Given the description of an element on the screen output the (x, y) to click on. 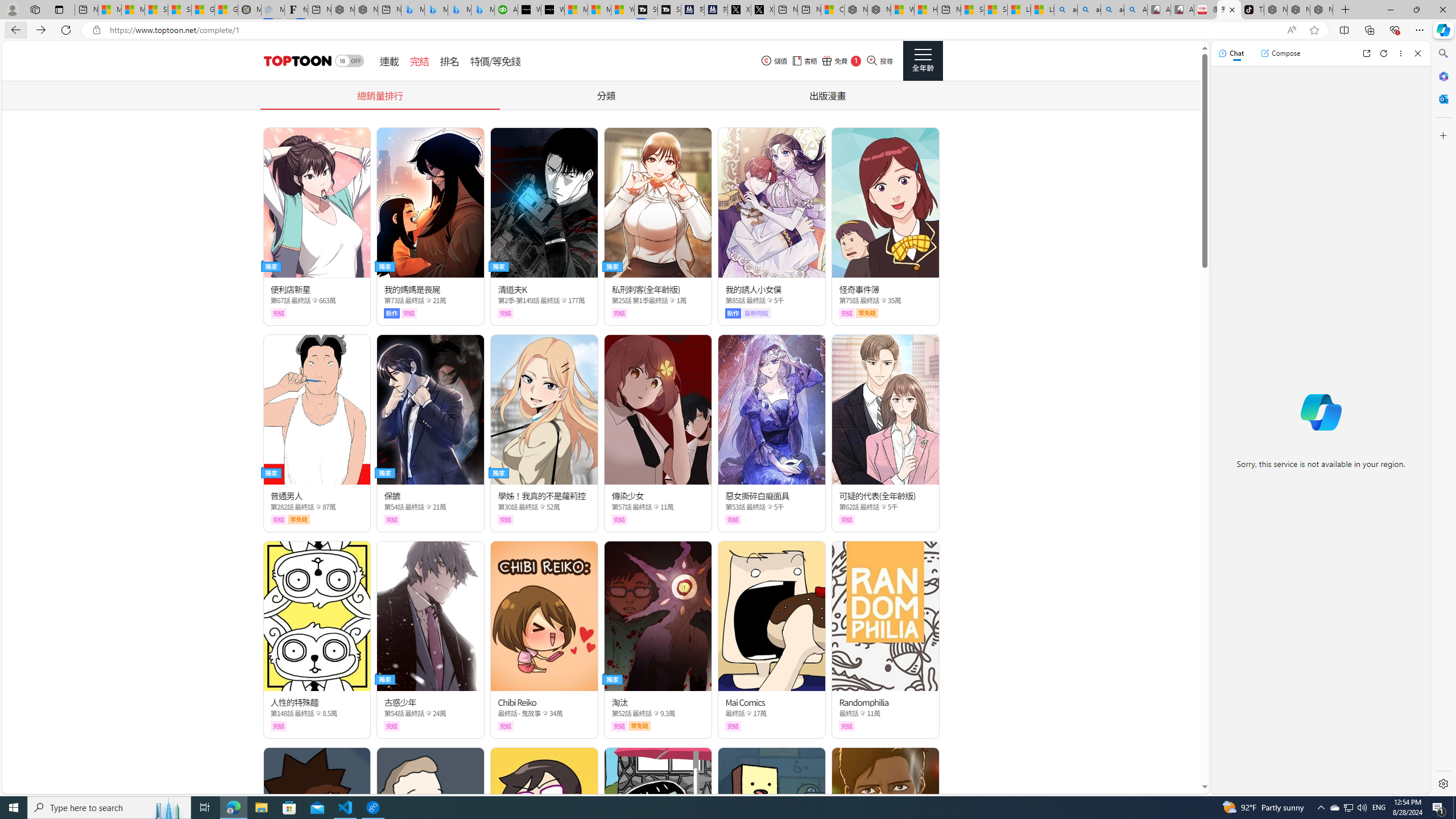
Forward (40, 29)
Nordace - Best Sellers (1275, 9)
header (295, 60)
Class: epicon_starpoint (863, 712)
Microsoft 365 (1442, 76)
